Given the description of an element on the screen output the (x, y) to click on. 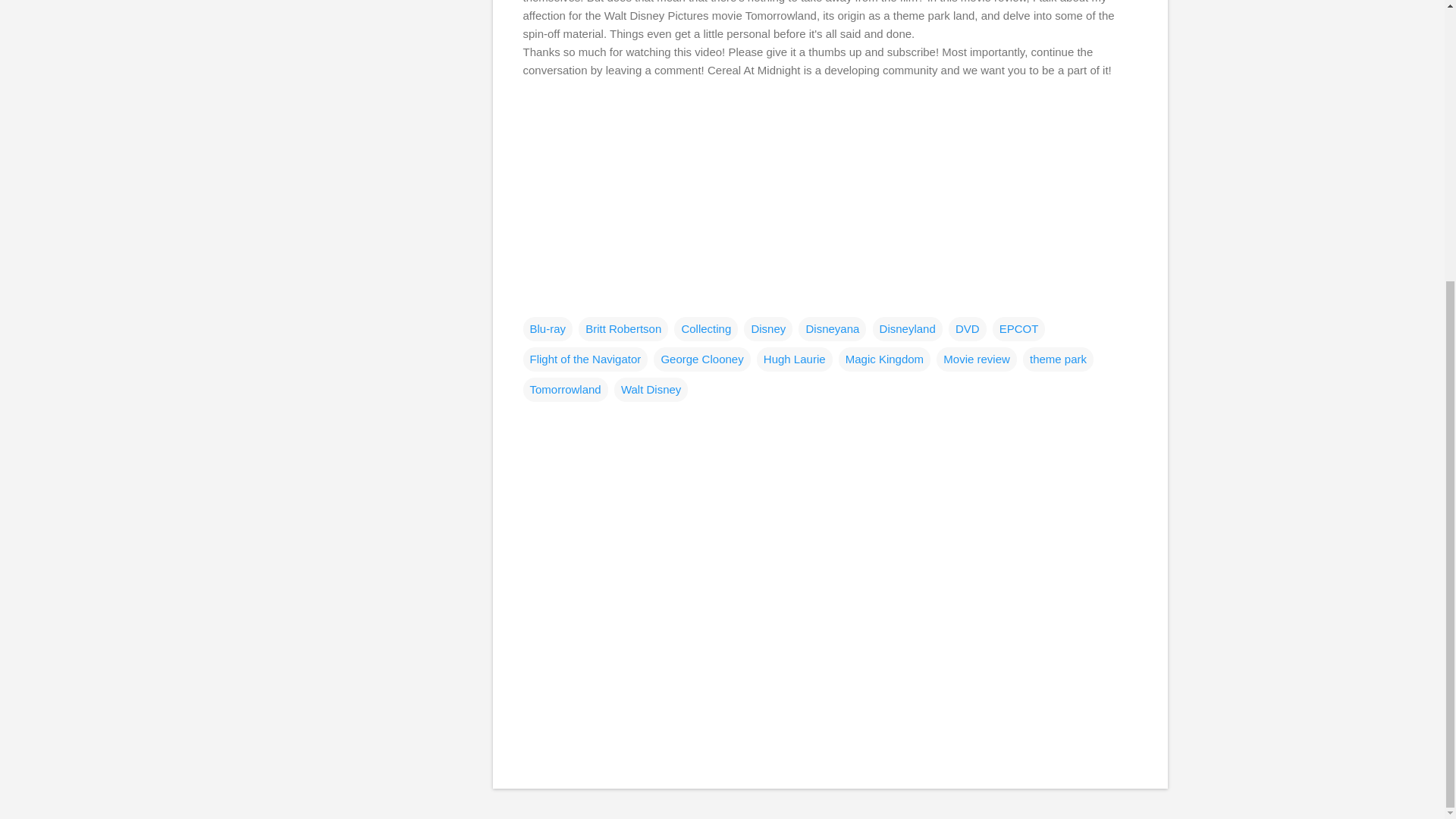
Movie review (976, 359)
Disneyana (831, 328)
George Clooney (701, 359)
DVD (968, 328)
Britt Robertson (623, 328)
Flight of the Navigator (584, 359)
Tomorrowland (565, 389)
Blu-ray (547, 328)
Disney (768, 328)
Disneyland (907, 328)
